Given the description of an element on the screen output the (x, y) to click on. 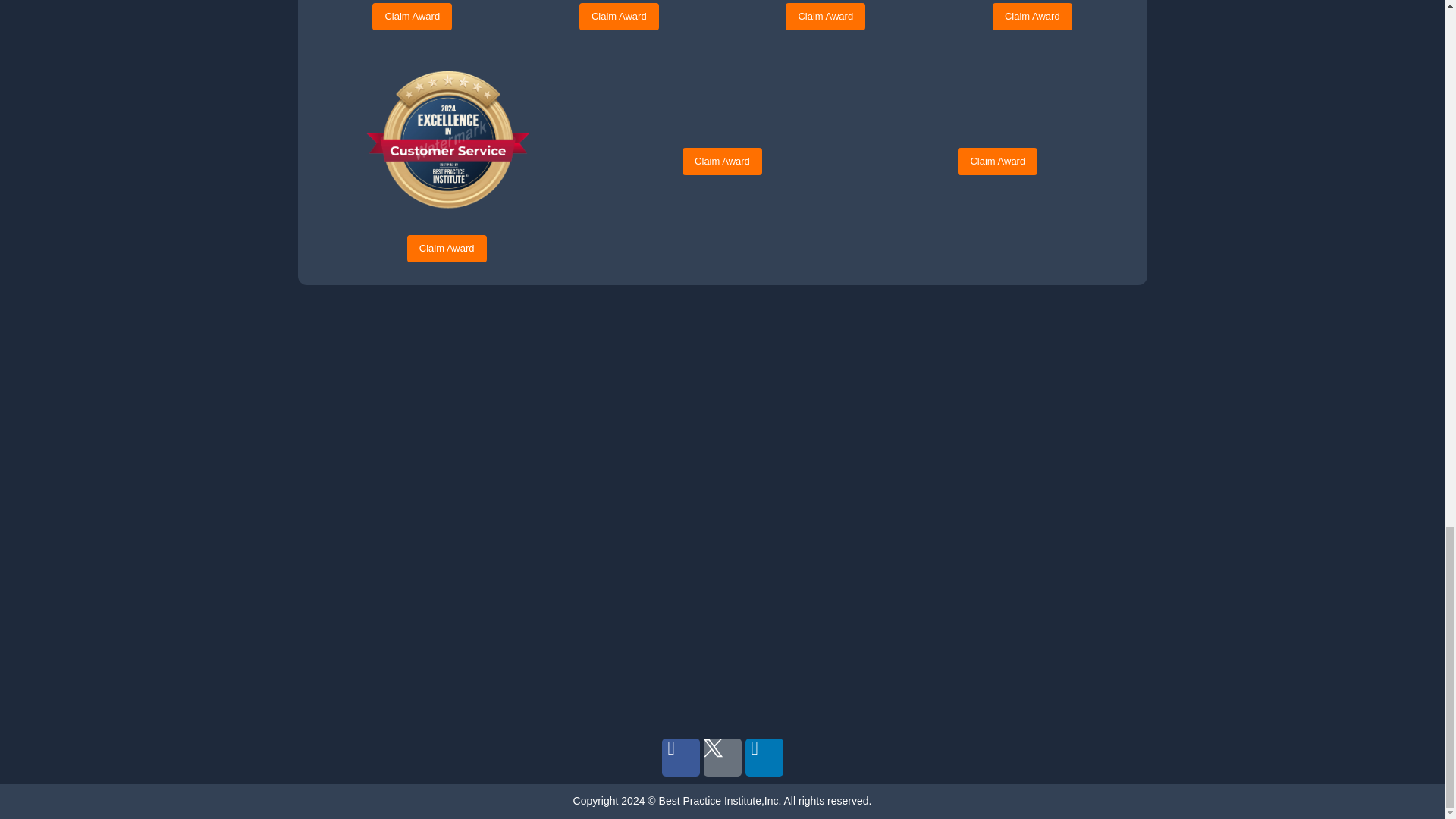
Claim Award (619, 16)
Claim Award (1031, 16)
Claim Award (411, 16)
Claim Award (825, 16)
